Given the description of an element on the screen output the (x, y) to click on. 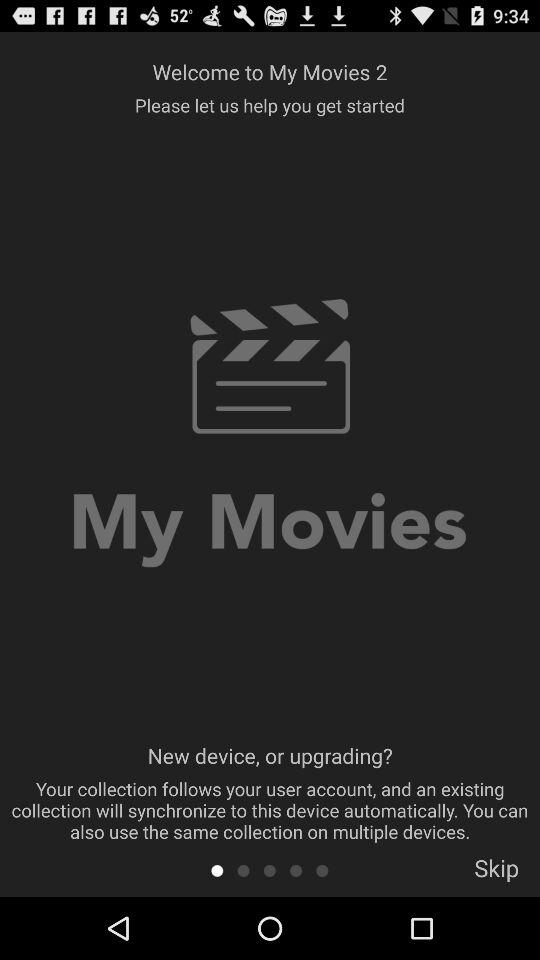
next (321, 870)
